Given the description of an element on the screen output the (x, y) to click on. 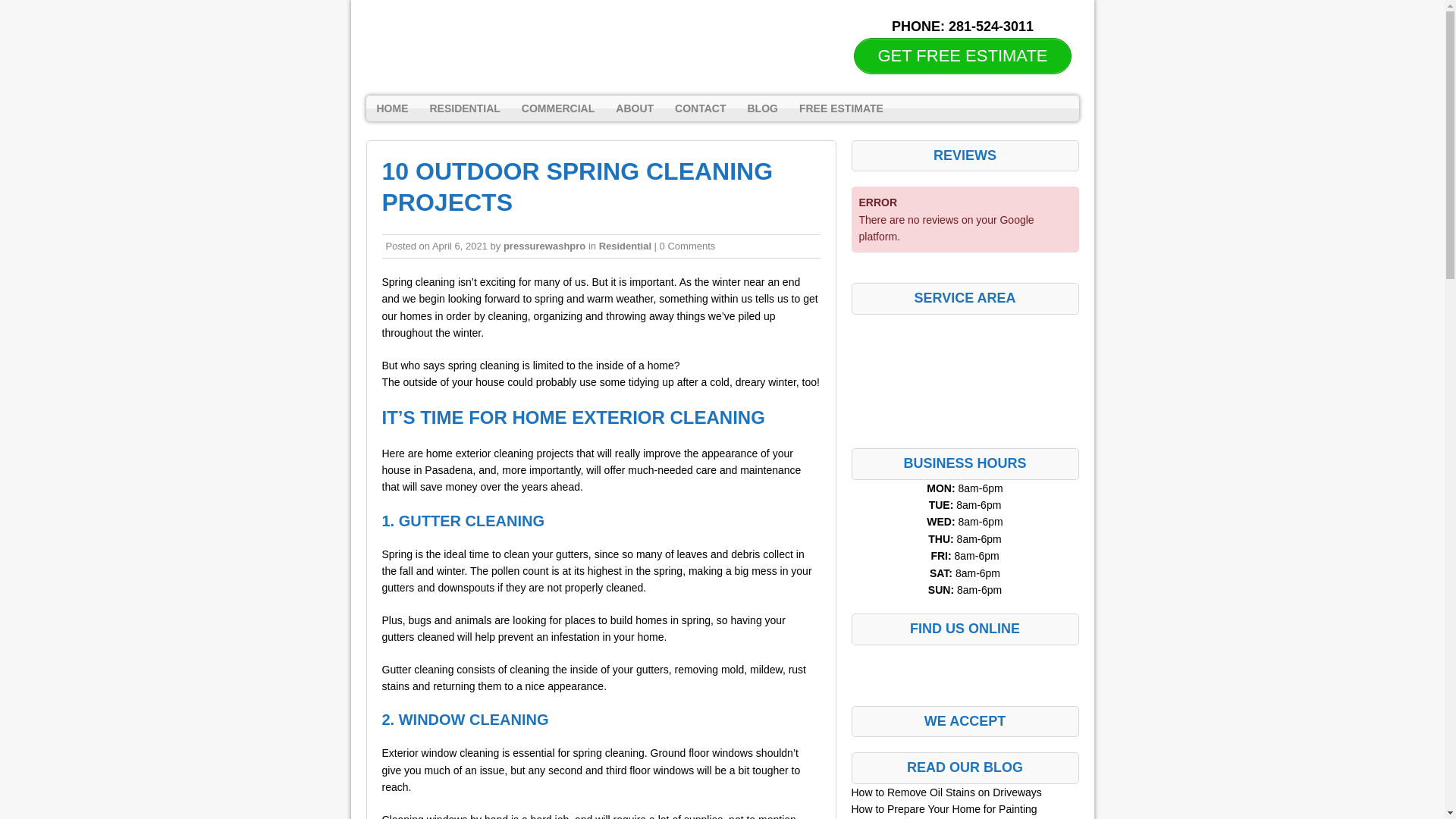
TruClean Pressure Washing (365, 13)
How to Prepare Your Home for Painting (943, 808)
281-524-3011 (991, 26)
COMMERCIAL (558, 108)
GET FREE ESTIMATE (961, 55)
Instagram (964, 665)
Residential (624, 245)
CONTACT (699, 108)
How to Remove Oil Stains on Driveways (945, 792)
FREE ESTIMATE (841, 108)
